Given the description of an element on the screen output the (x, y) to click on. 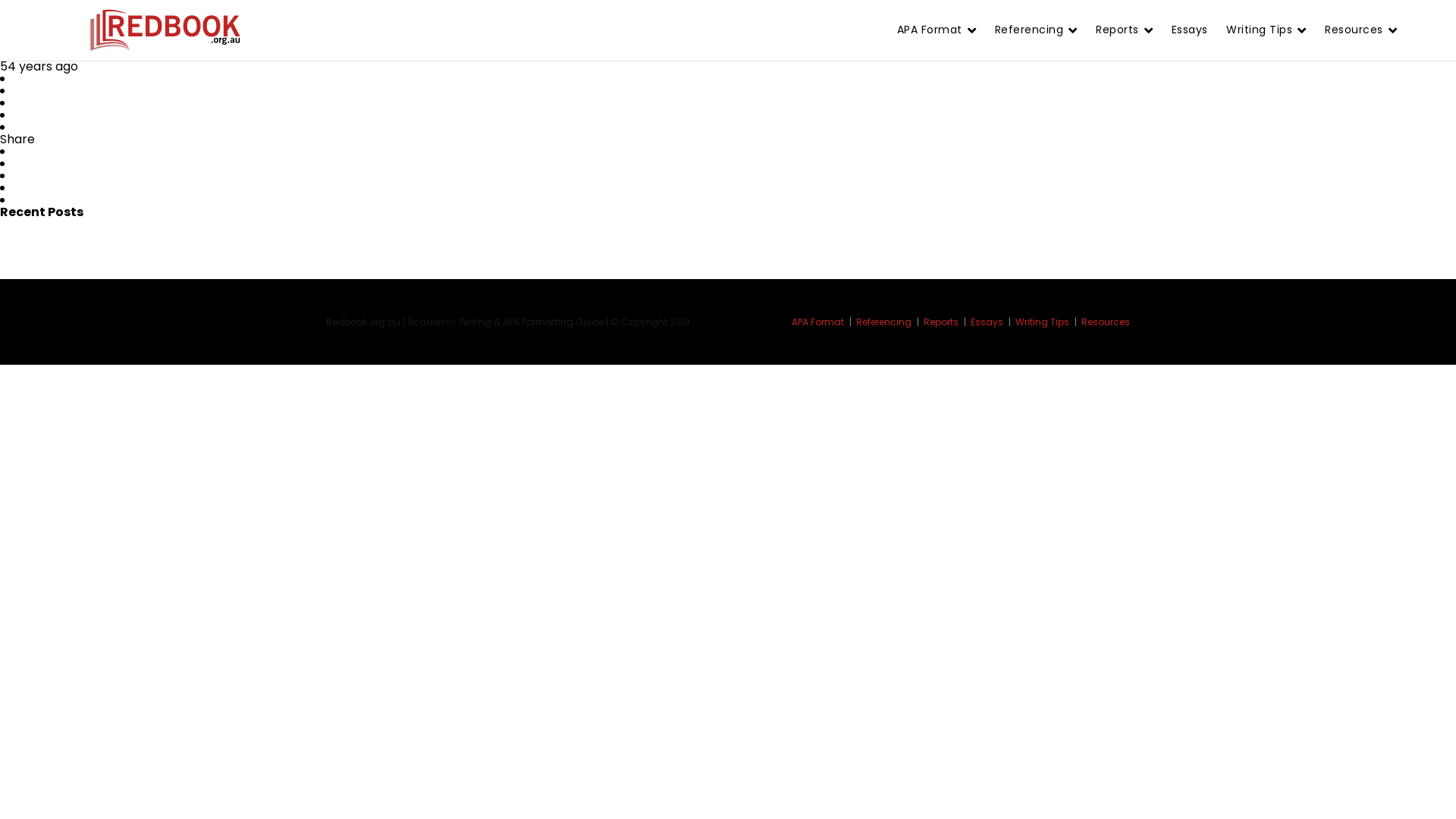
Essays Element type: text (991, 321)
APA Format Element type: text (822, 321)
Resources Element type: text (1105, 321)
Essays Element type: text (1188, 29)
Reports Element type: text (945, 321)
Referencing Element type: text (1036, 29)
Resources Element type: text (1360, 29)
Referencing Element type: text (888, 321)
Writing Tips Element type: text (1047, 321)
Writing Tips Element type: text (1266, 29)
APA Format Element type: text (935, 29)
Reports Element type: text (1124, 29)
Redbook | Academic Writing and APA Formatting Guide Element type: hover (165, 30)
